Given the description of an element on the screen output the (x, y) to click on. 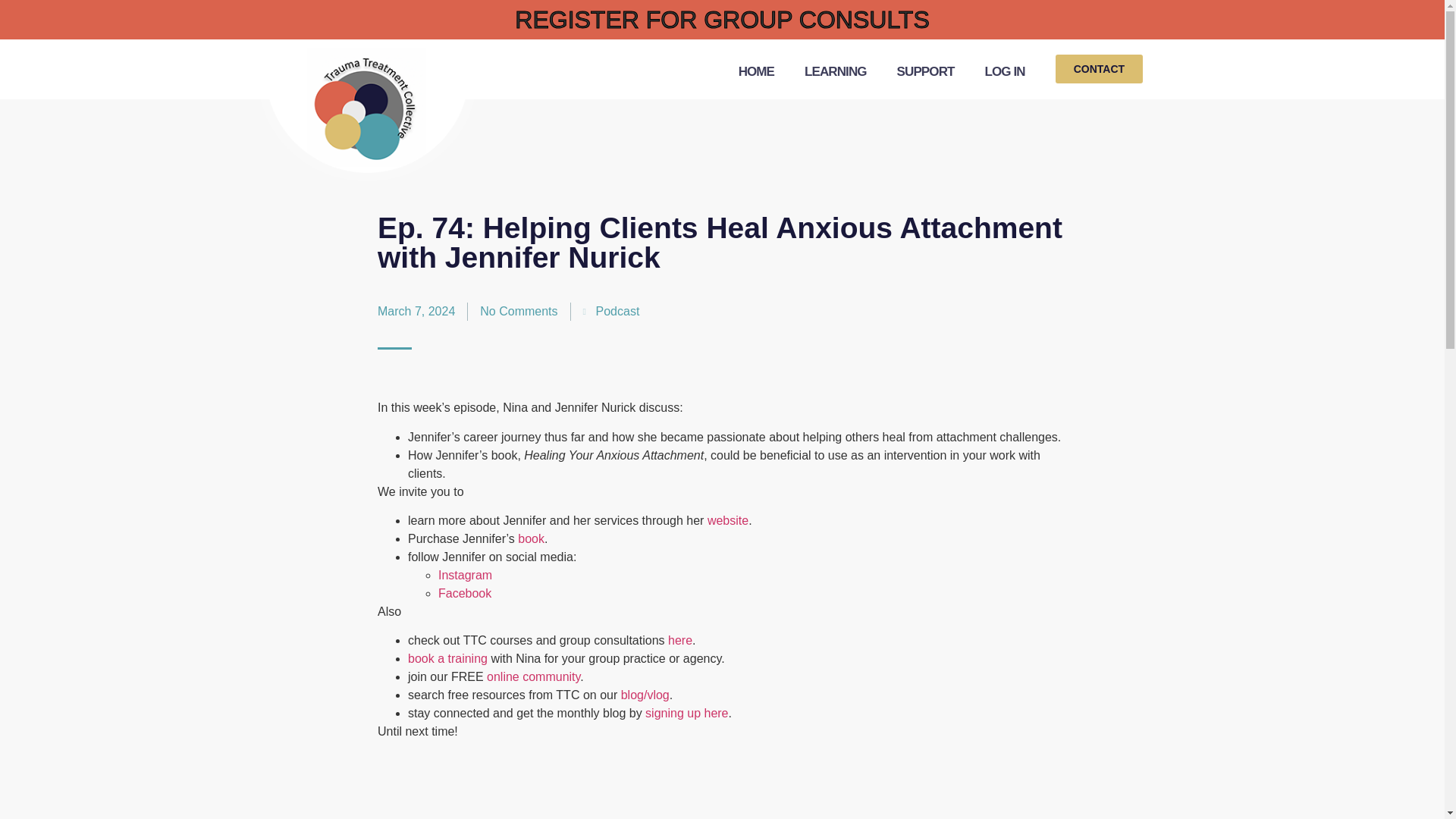
HOME (756, 71)
LOG IN (1004, 71)
CONTACT (1098, 68)
LEARNING (835, 71)
SUPPORT (925, 71)
REGISTER FOR GROUP CONSULTS (721, 19)
